Given the description of an element on the screen output the (x, y) to click on. 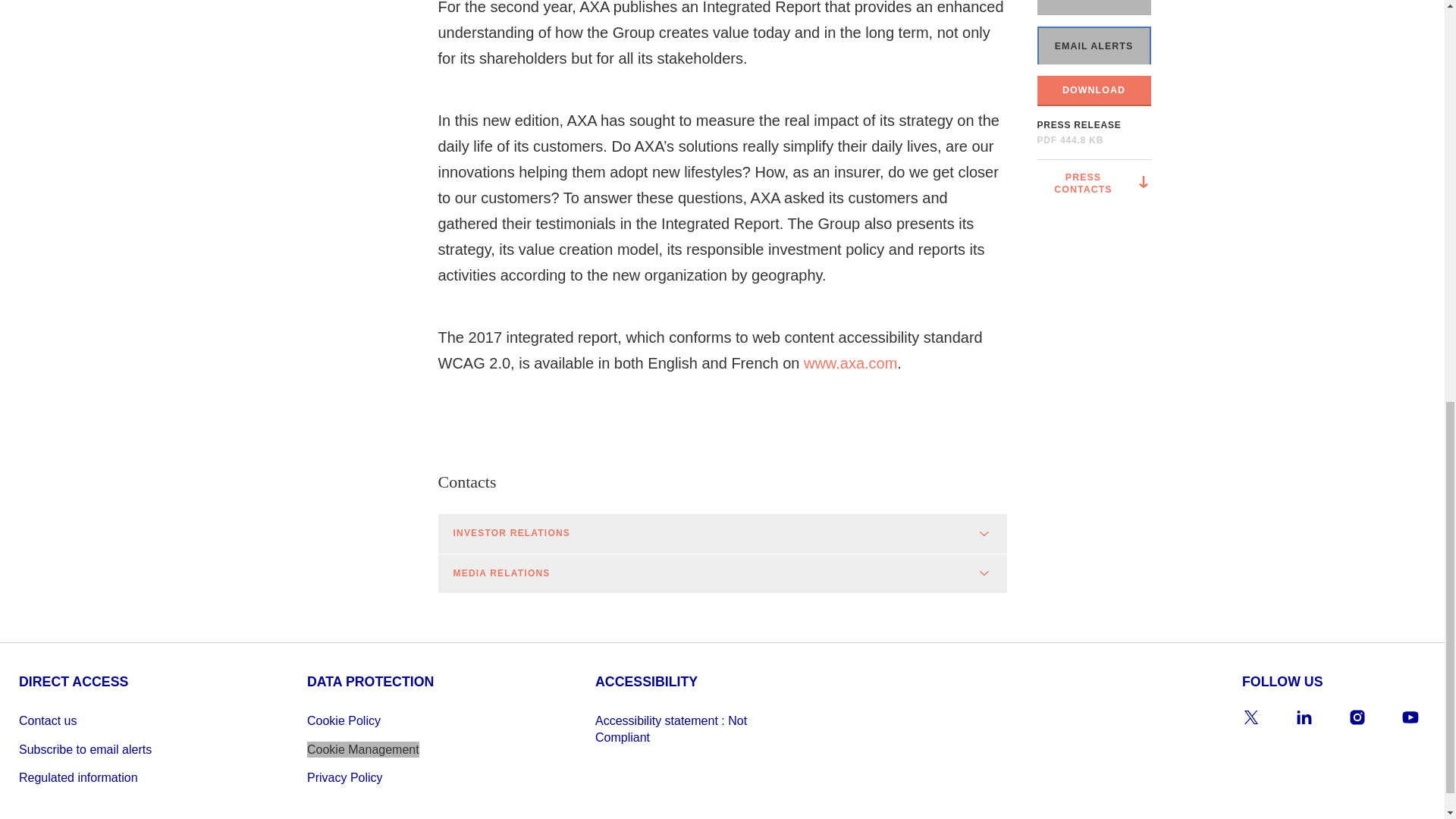
Contact us (113, 720)
Regulated information (113, 777)
Linkedin (1303, 716)
Privacy Policy (401, 777)
Accessibility statement : Not Compliant (689, 728)
Subscribe to email alerts (113, 749)
Cookie Management (363, 749)
www.axa.com (849, 362)
Cookie Policy (401, 720)
Youtube (1409, 716)
Linkedin (1304, 717)
Youtube (1409, 717)
Instagram (1357, 717)
Instagram (1357, 716)
